Given the description of an element on the screen output the (x, y) to click on. 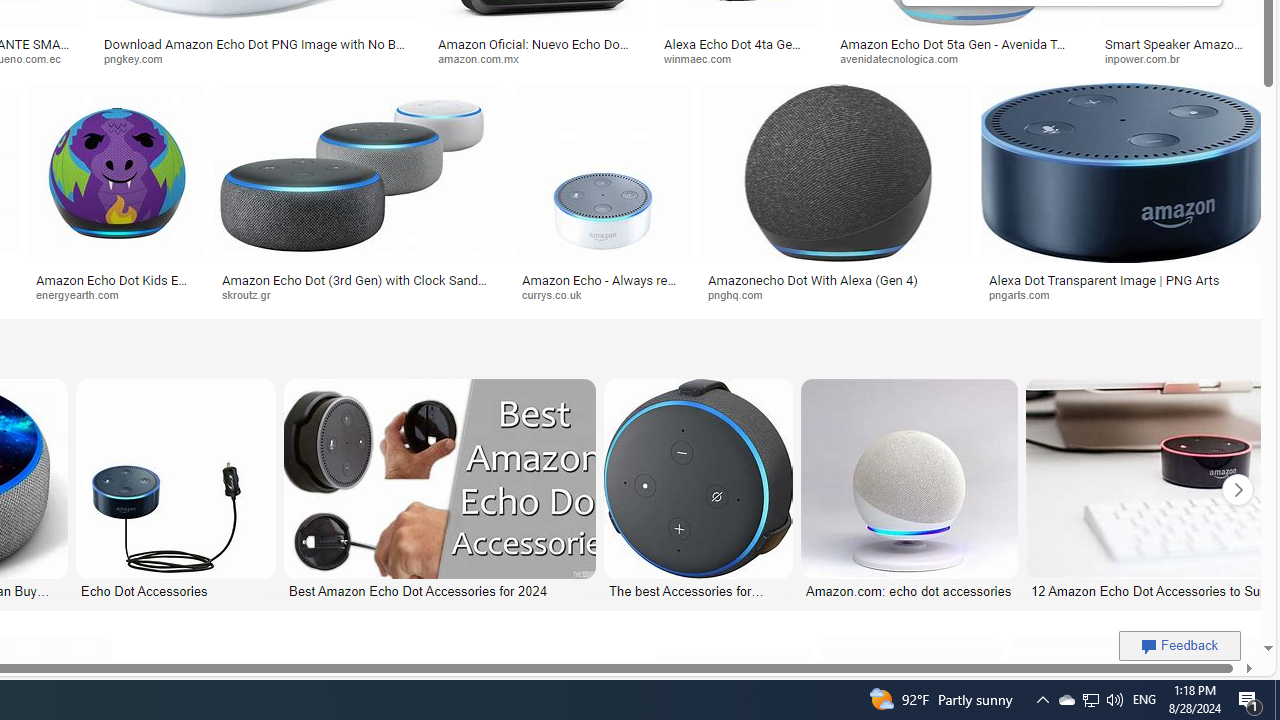
pnghq.com (741, 294)
pngarts.com (1123, 295)
skroutz.gr (359, 295)
Click to scroll right (1238, 489)
Image result for Amazon Echo Dot PNG (1122, 172)
currys.co.uk (602, 295)
winmaec.com (705, 57)
currys.co.uk (559, 294)
inpower.com.br (1181, 58)
Alexa Dot Transparent Image | PNG Artspngarts.comSave (1122, 196)
